Given the description of an element on the screen output the (x, y) to click on. 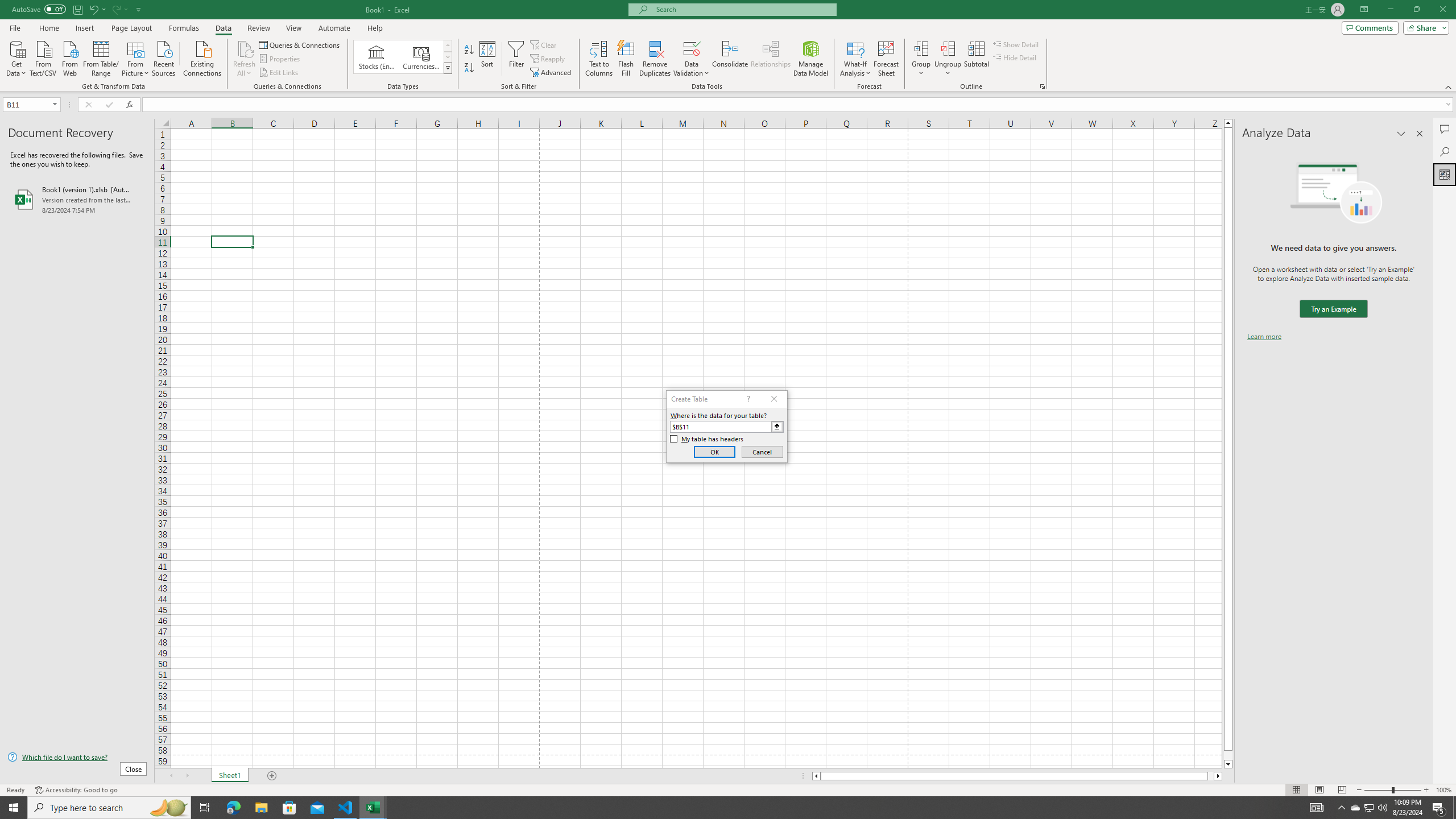
Currencies (English) (420, 56)
System (6, 6)
Sort Z to A (469, 67)
Queries & Connections (300, 44)
We need data to give you answers. Try an Example (1333, 308)
Page right (1211, 775)
Accessibility Checker Accessibility: Good to go (76, 790)
Ungroup... (947, 48)
From Table/Range (100, 57)
Formula Bar (799, 104)
Zoom In (1426, 790)
Column left (815, 775)
Open (54, 104)
Minimize (1390, 9)
